Given the description of an element on the screen output the (x, y) to click on. 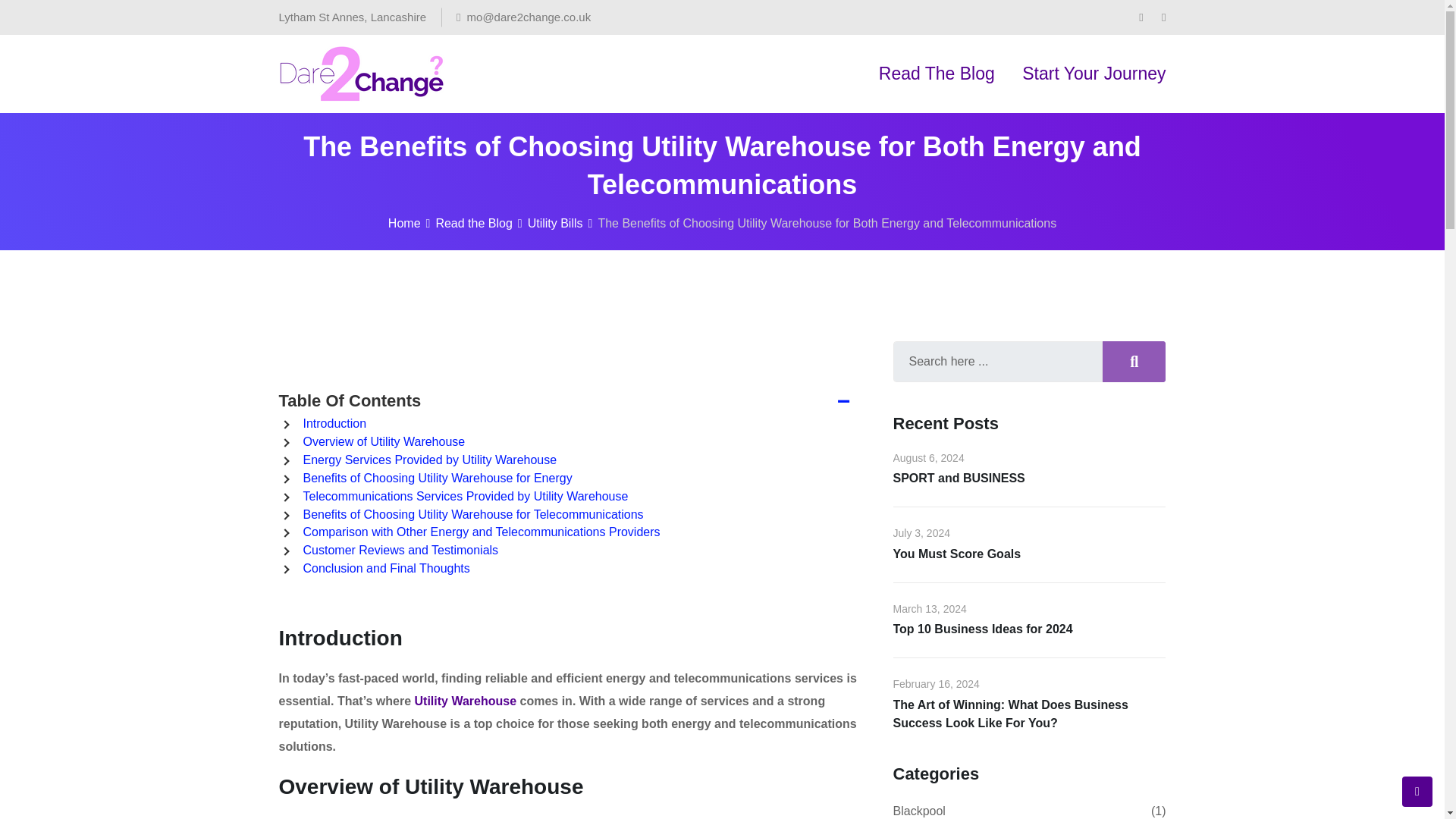
Customer Reviews and Testimonials (400, 549)
Go to Dare2Change. (404, 223)
Home (404, 223)
Benefits of Choosing Utility Warehouse for Energy (437, 477)
Read the Blog (473, 223)
Utility Warehouse (465, 700)
Go to the Utility Bills category archives. (555, 223)
Utility Bills (555, 223)
Read The Blog (936, 74)
Go to Read the Blog. (473, 223)
